Given the description of an element on the screen output the (x, y) to click on. 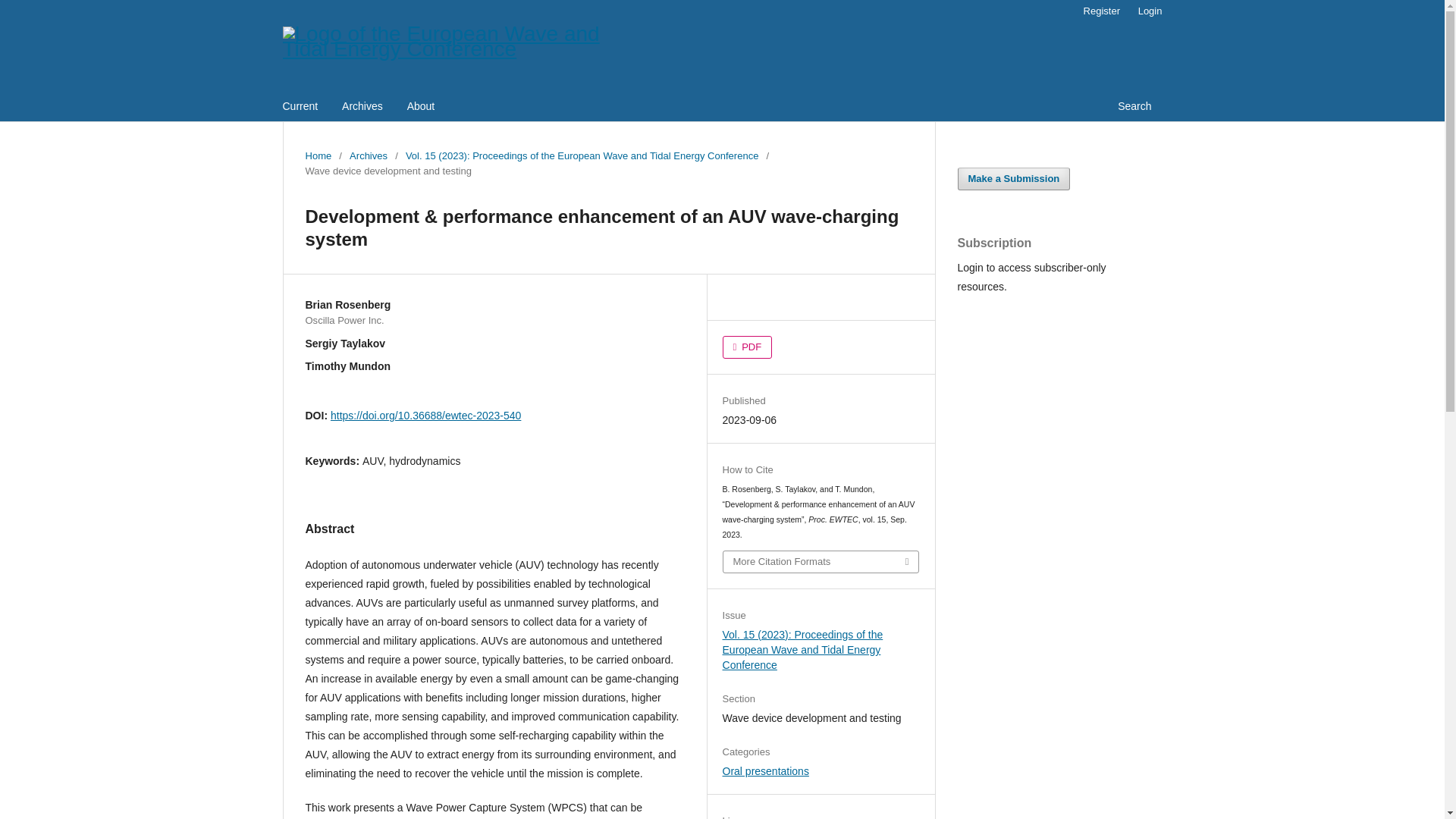
Home (317, 155)
Archives (368, 155)
About (421, 108)
Oral presentations (765, 770)
Login (1150, 11)
Current (300, 108)
PDF (747, 346)
Archives (362, 108)
More Citation Formats (820, 561)
Search (1134, 108)
